Given the description of an element on the screen output the (x, y) to click on. 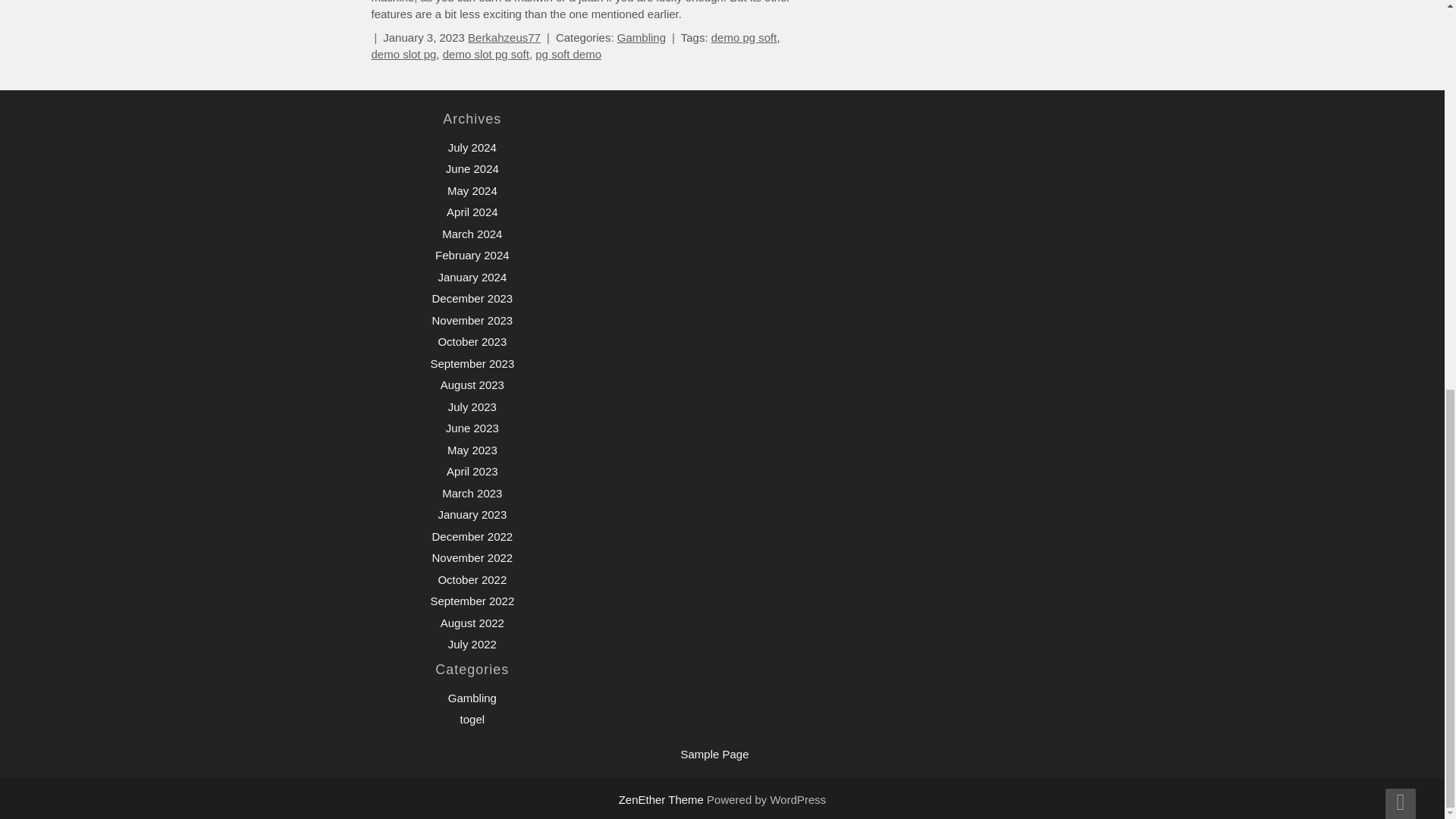
November 2022 (471, 557)
February 2024 (472, 254)
pg soft demo (568, 53)
March 2023 (472, 492)
demo pg soft (744, 37)
Gambling (641, 37)
ZenEther Theme (662, 799)
January 2024 (472, 277)
demo slot pg soft (485, 53)
April 2024 (471, 211)
December 2022 (471, 535)
May 2023 (471, 449)
April 2023 (471, 471)
demo slot pg (403, 53)
July 2024 (472, 146)
